Given the description of an element on the screen output the (x, y) to click on. 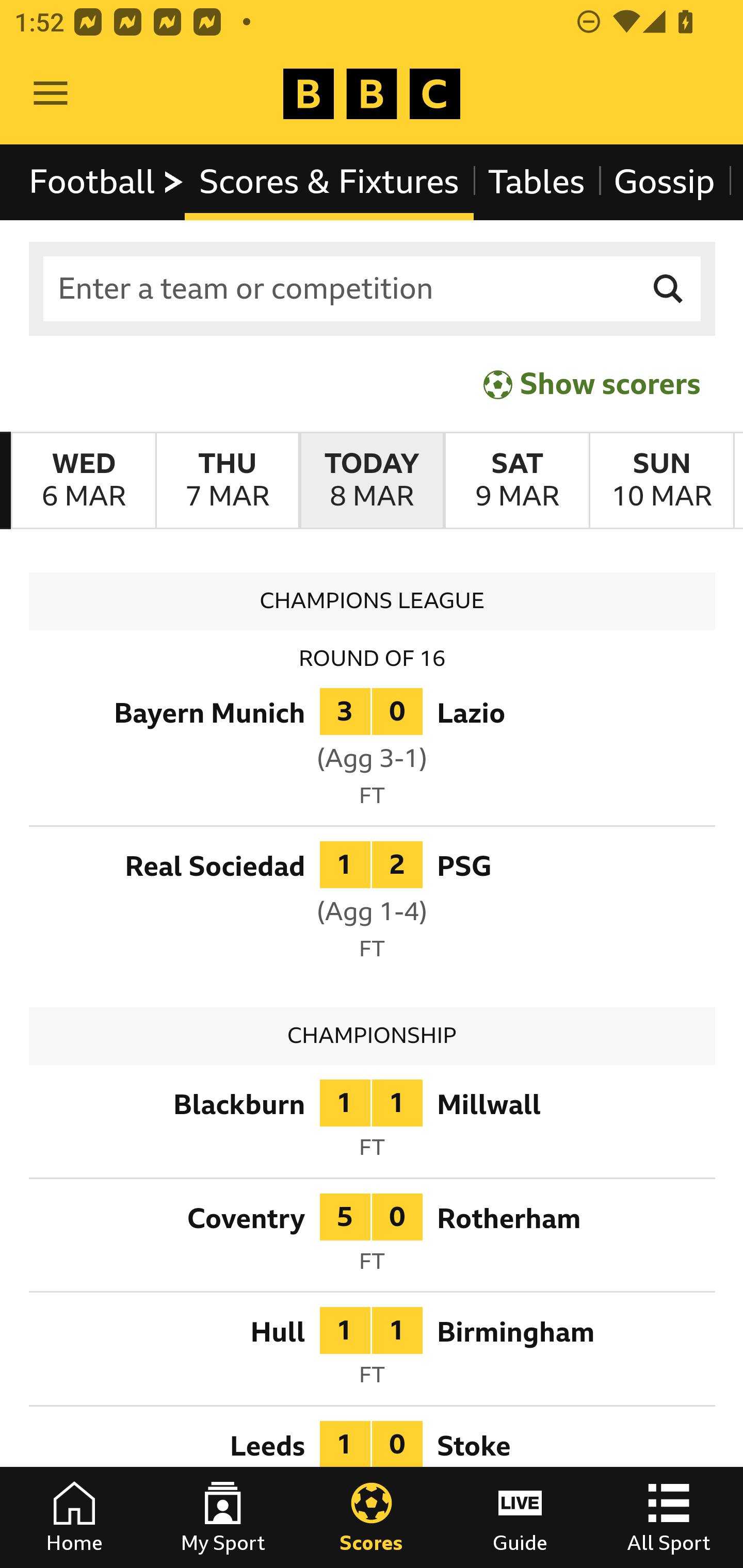
Open Menu (50, 93)
Football  (106, 181)
Scores & Fixtures (329, 181)
Tables (536, 181)
Gossip (664, 181)
Search (669, 289)
Show scorers (591, 383)
WednesdayMarch 6th Wednesday March 6th (83, 480)
ThursdayMarch 7th Thursday March 7th (227, 480)
TodayMarch 8th Today March 8th (371, 480)
SaturdayMarch 9th Saturday March 9th (516, 480)
SundayMarch 10th Sunday March 10th (661, 480)
68410342 Blackburn Rovers 1 Millwall 1 Full Time (372, 1123)
68410333 Hull City 1 Birmingham City 1 Full Time (372, 1352)
68410331 Leeds United 1 Stoke City 0 Full Time (372, 1466)
Home (74, 1517)
My Sport (222, 1517)
Guide (519, 1517)
All Sport (668, 1517)
